Given the description of an element on the screen output the (x, y) to click on. 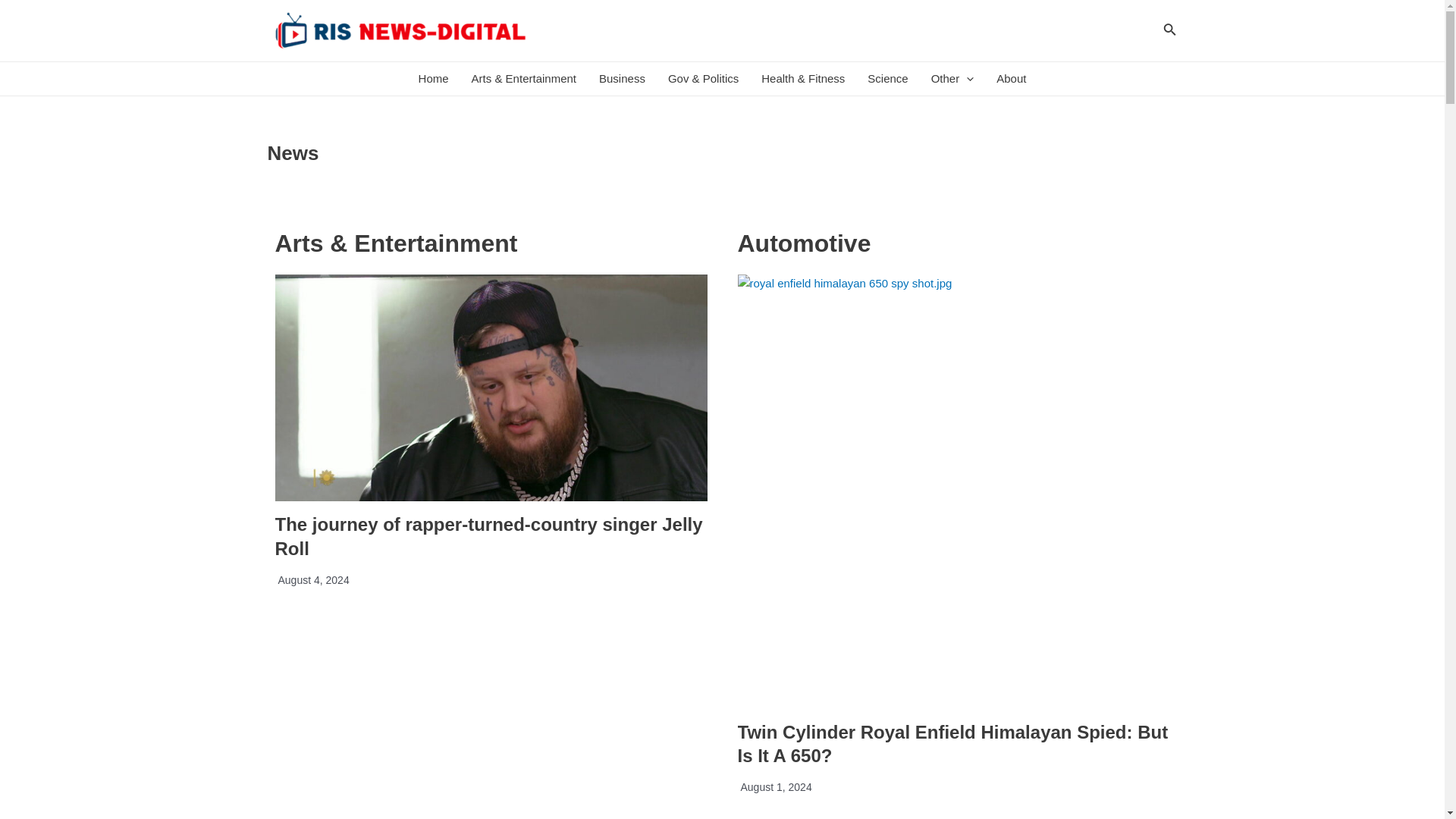
Science (887, 78)
Home (433, 78)
About (1010, 78)
Business (622, 78)
Other (952, 78)
